Given the description of an element on the screen output the (x, y) to click on. 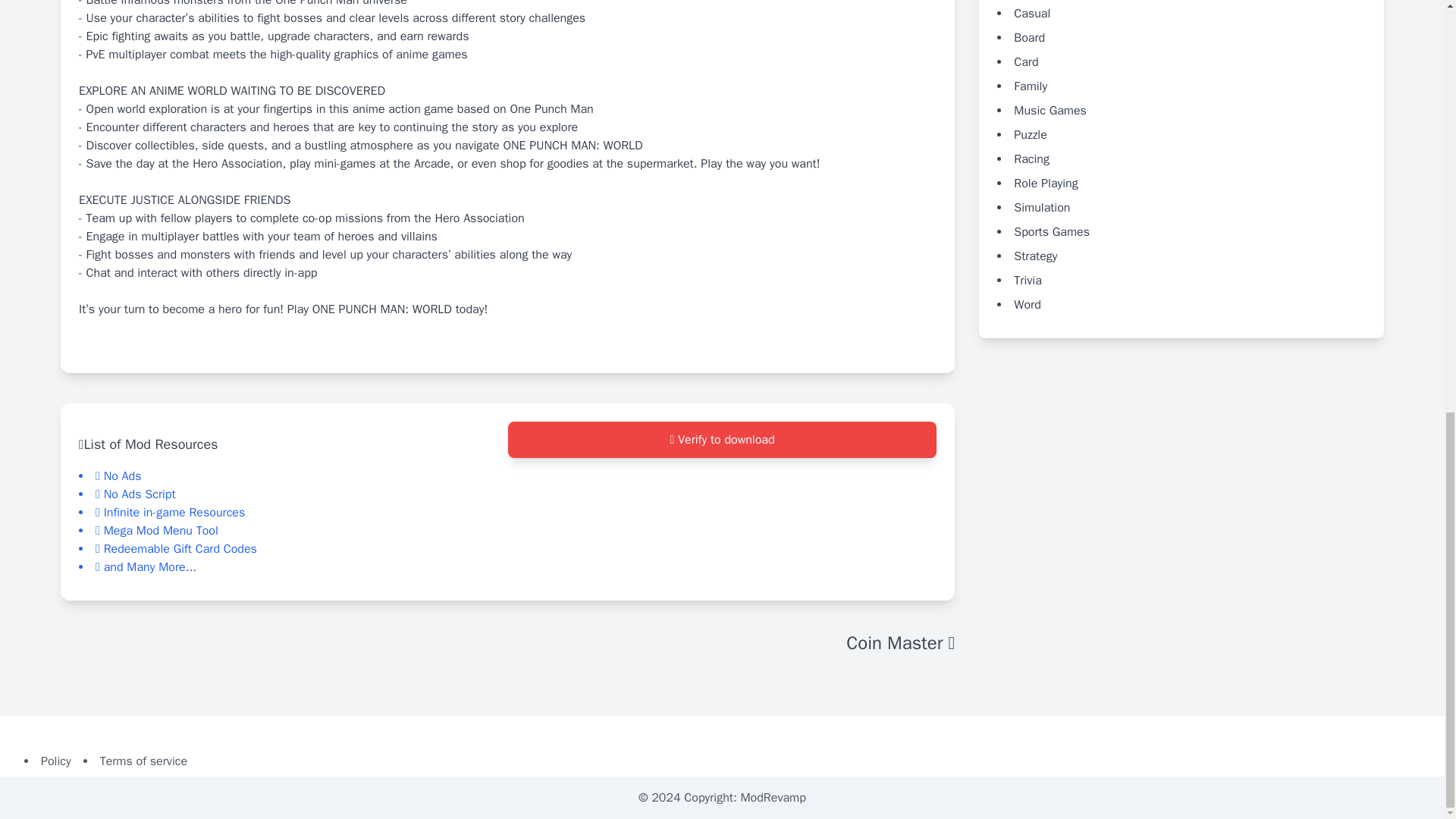
Board (1029, 37)
Role Playing (1045, 182)
Casual (1031, 12)
Family (1029, 85)
Puzzle (1029, 133)
Coin Master (900, 642)
Racing (1031, 158)
Music Games (1049, 109)
Simulation (1041, 206)
Verify to download (722, 439)
Card (1025, 61)
Verify to download (722, 501)
